Given the description of an element on the screen output the (x, y) to click on. 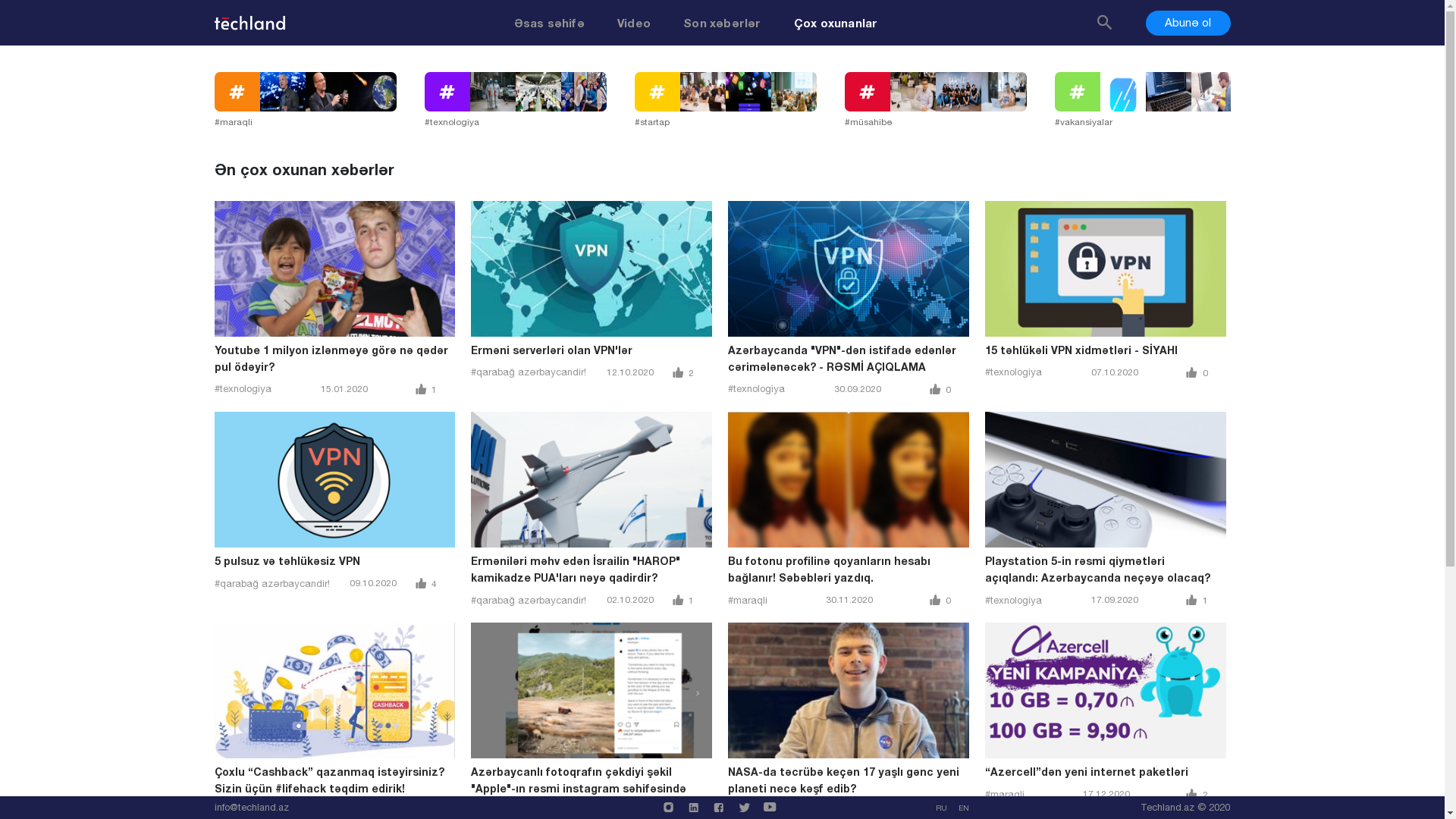
#kosmos Element type: text (747, 810)
#maraqli Element type: text (318, 100)
#maraqli Element type: text (1004, 794)
#startap Element type: text (738, 100)
#maraqli Element type: text (747, 599)
Video Element type: text (633, 22)
